Given the description of an element on the screen output the (x, y) to click on. 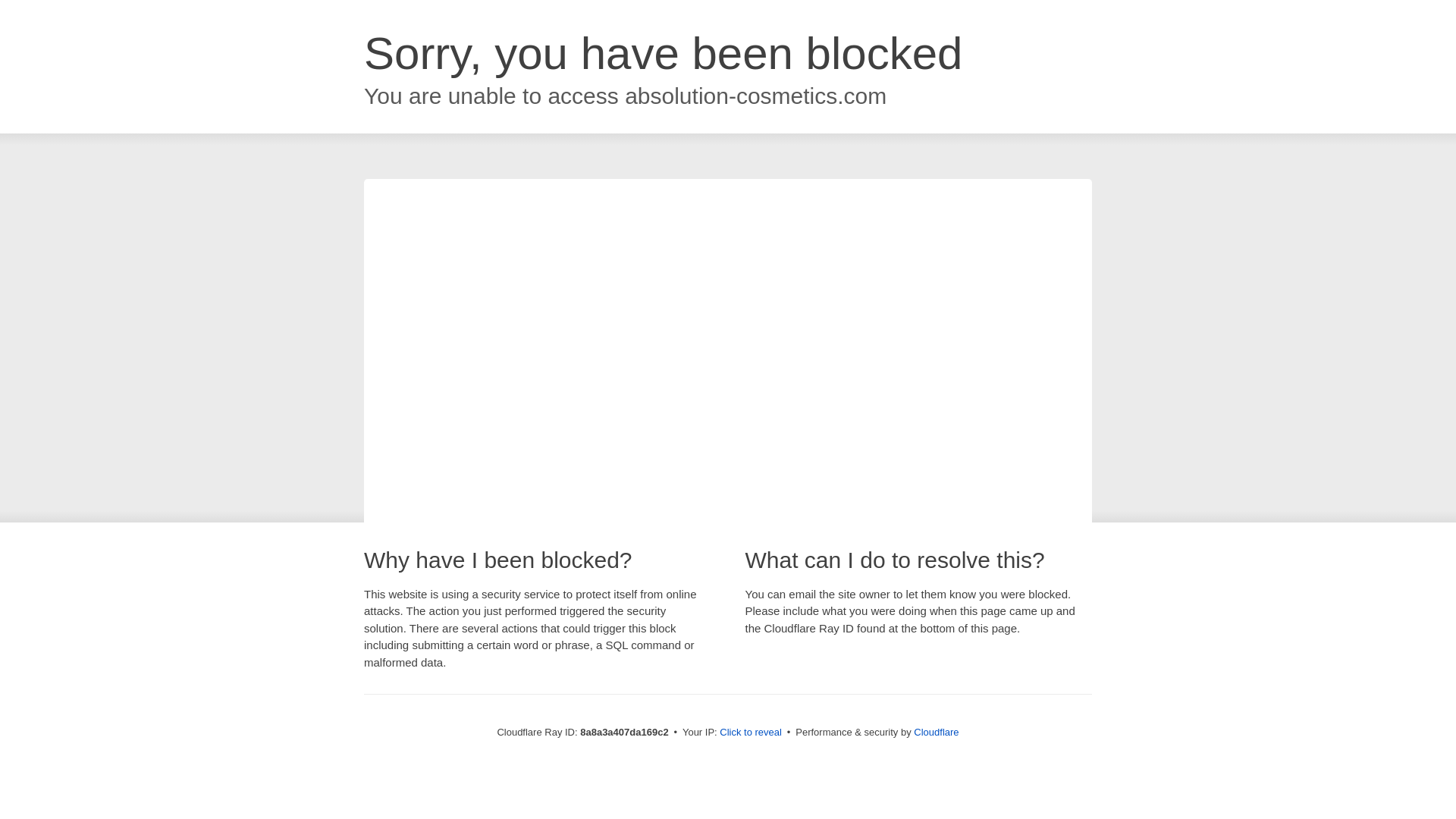
Cloudflare (936, 731)
Click to reveal (750, 732)
